Given the description of an element on the screen output the (x, y) to click on. 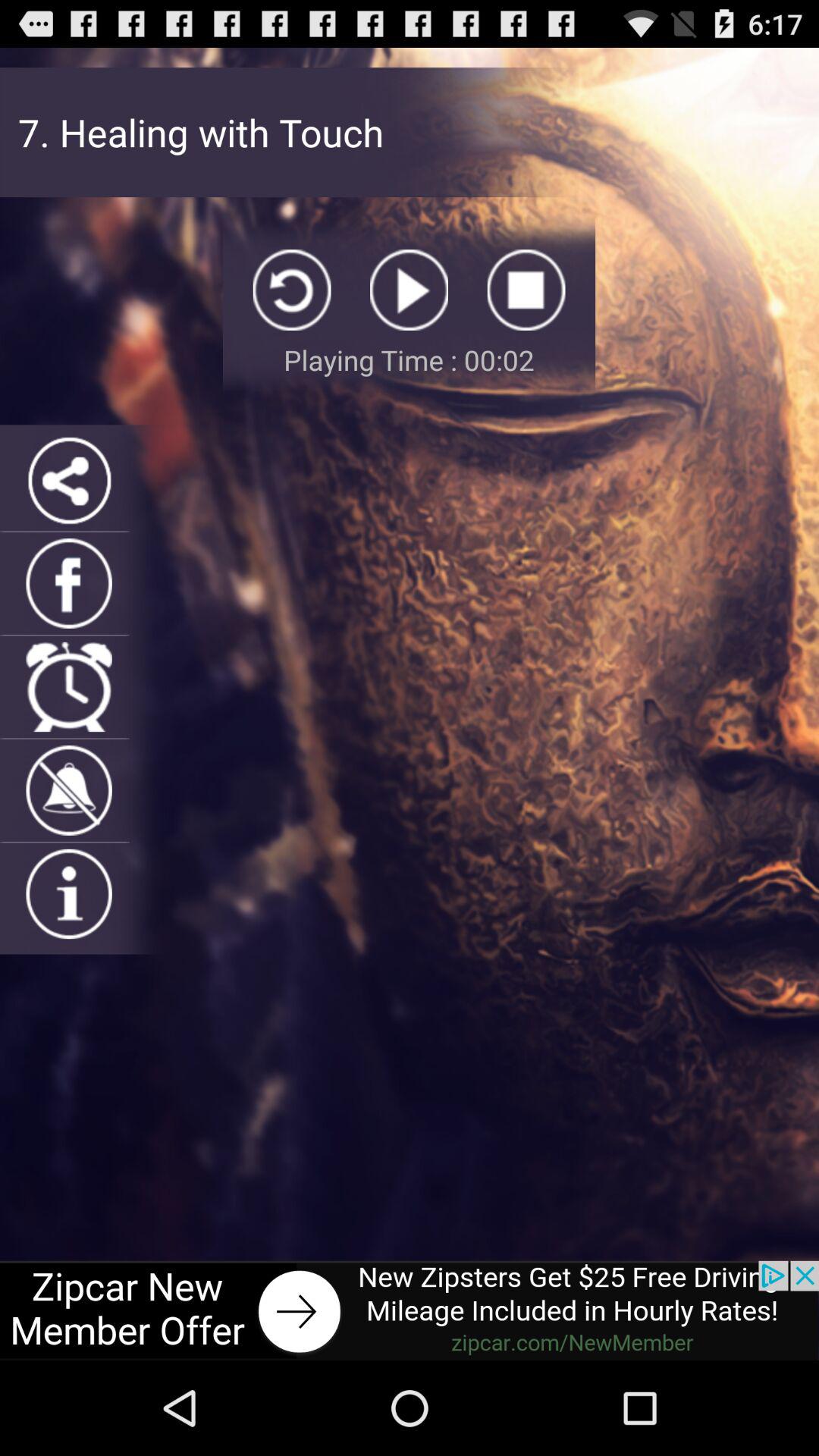
information icon (69, 894)
